Given the description of an element on the screen output the (x, y) to click on. 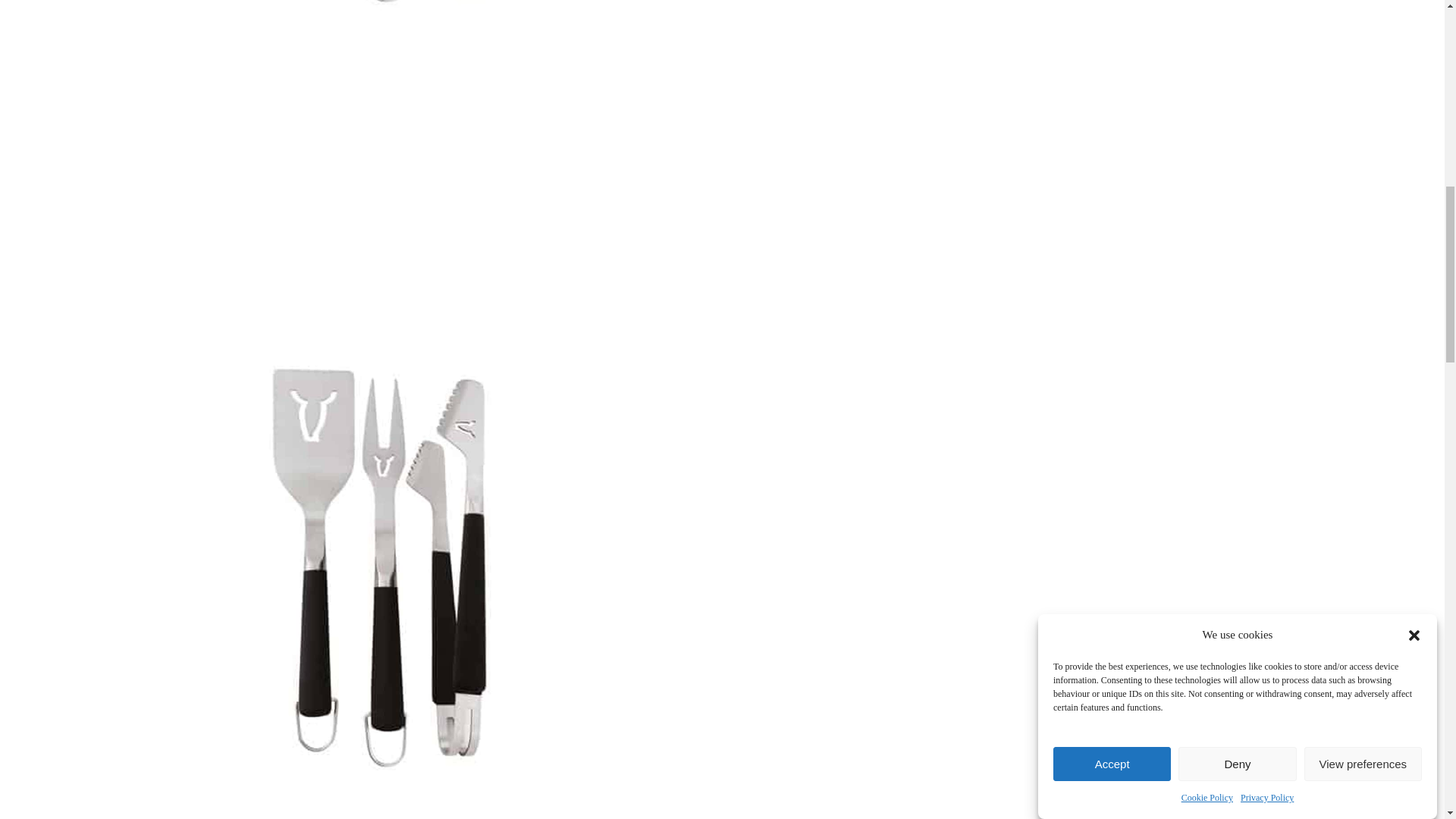
3-PIECE-BBQ-SET (387, 72)
Deny (1236, 186)
Accept (1111, 217)
Cookie Policy (1206, 90)
View preferences (1363, 144)
Privacy Policy (1267, 74)
